Given the description of an element on the screen output the (x, y) to click on. 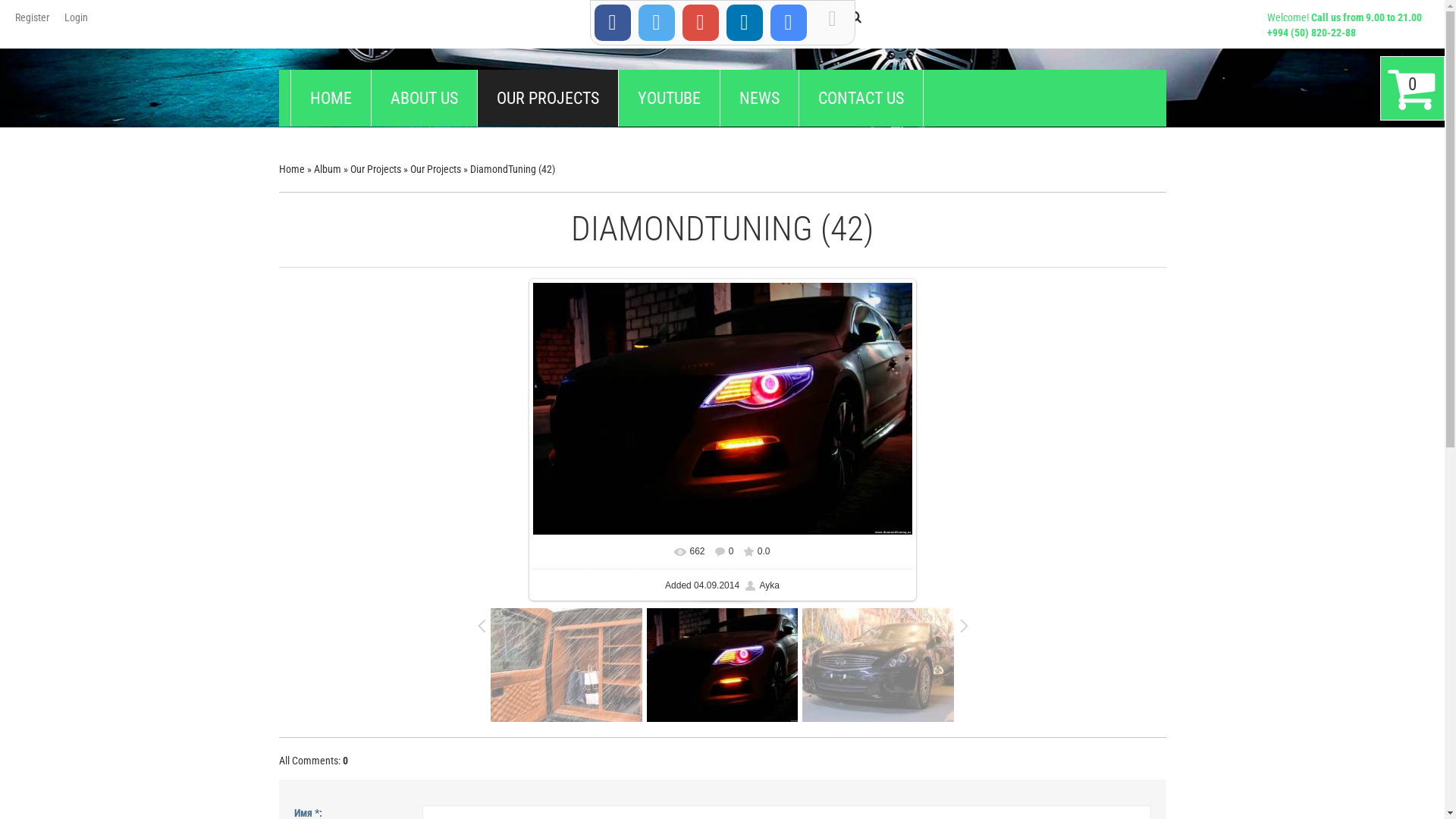
Share to Facebook Element type: hover (612, 22)
All social media buttons Element type: hover (788, 22)
Ayka Element type: text (761, 585)
NEWS Element type: text (759, 97)
Our Projects Element type: text (375, 169)
OUR PROJECTS Element type: text (547, 97)
Our Projects Element type: text (434, 169)
Register Element type: text (32, 17)
Home Element type: text (291, 169)
CONTACT US Element type: text (860, 97)
YOUTUBE Element type: text (668, 97)
HOME Element type: text (330, 97)
Share to Twitter Element type: hover (656, 22)
Share to undefined Element type: hover (700, 22)
Album Element type: text (327, 169)
Login Element type: text (75, 17)
Share to LinkedIn Element type: hover (744, 22)
ABOUT US Element type: text (423, 97)
